Given the description of an element on the screen output the (x, y) to click on. 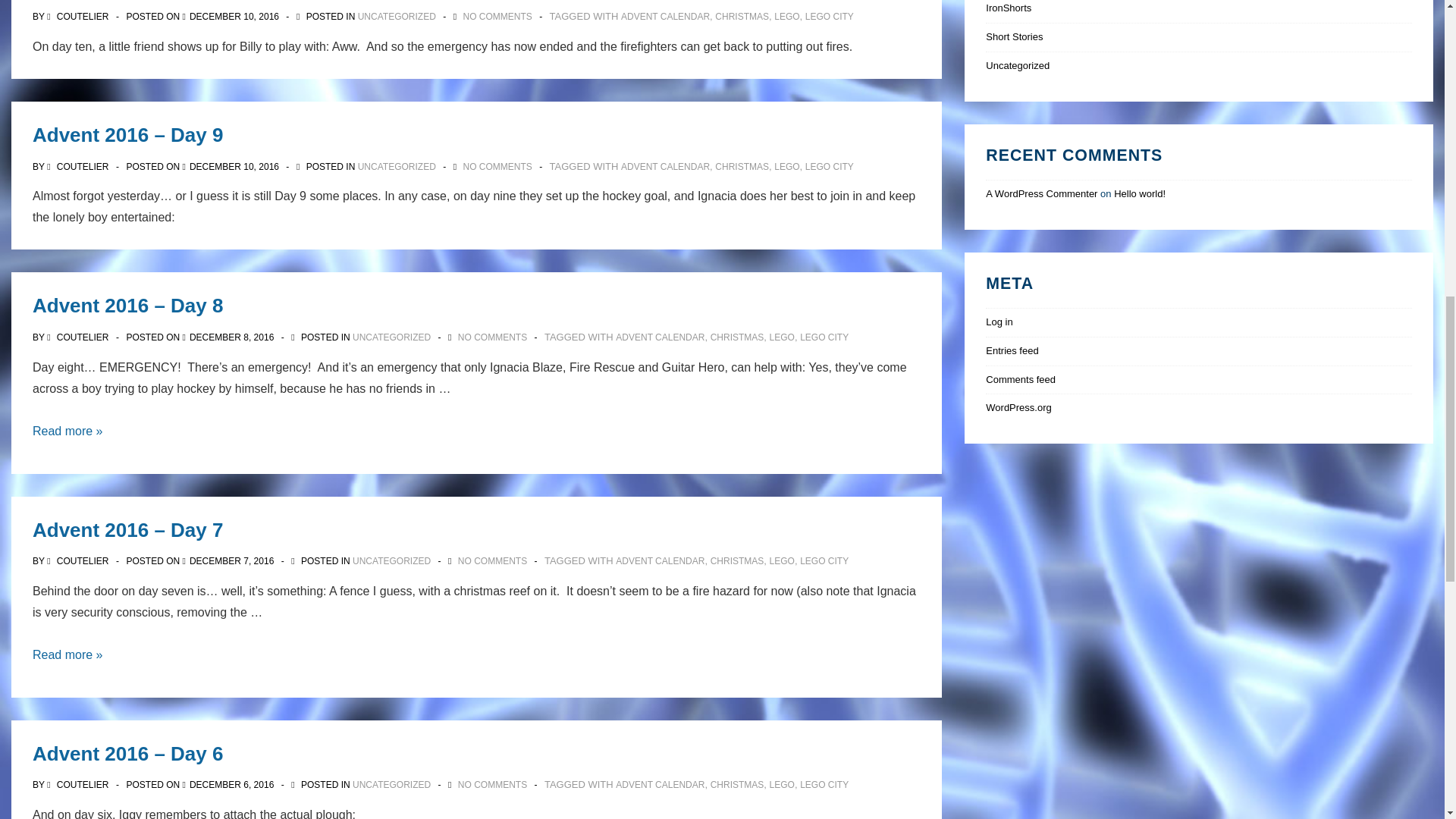
View all posts by Coutelier (79, 337)
COUTELIER (79, 16)
View all posts by Coutelier (79, 561)
View all posts by Coutelier (79, 784)
View all posts by Coutelier (79, 16)
View all posts by Coutelier (79, 165)
